Given the description of an element on the screen output the (x, y) to click on. 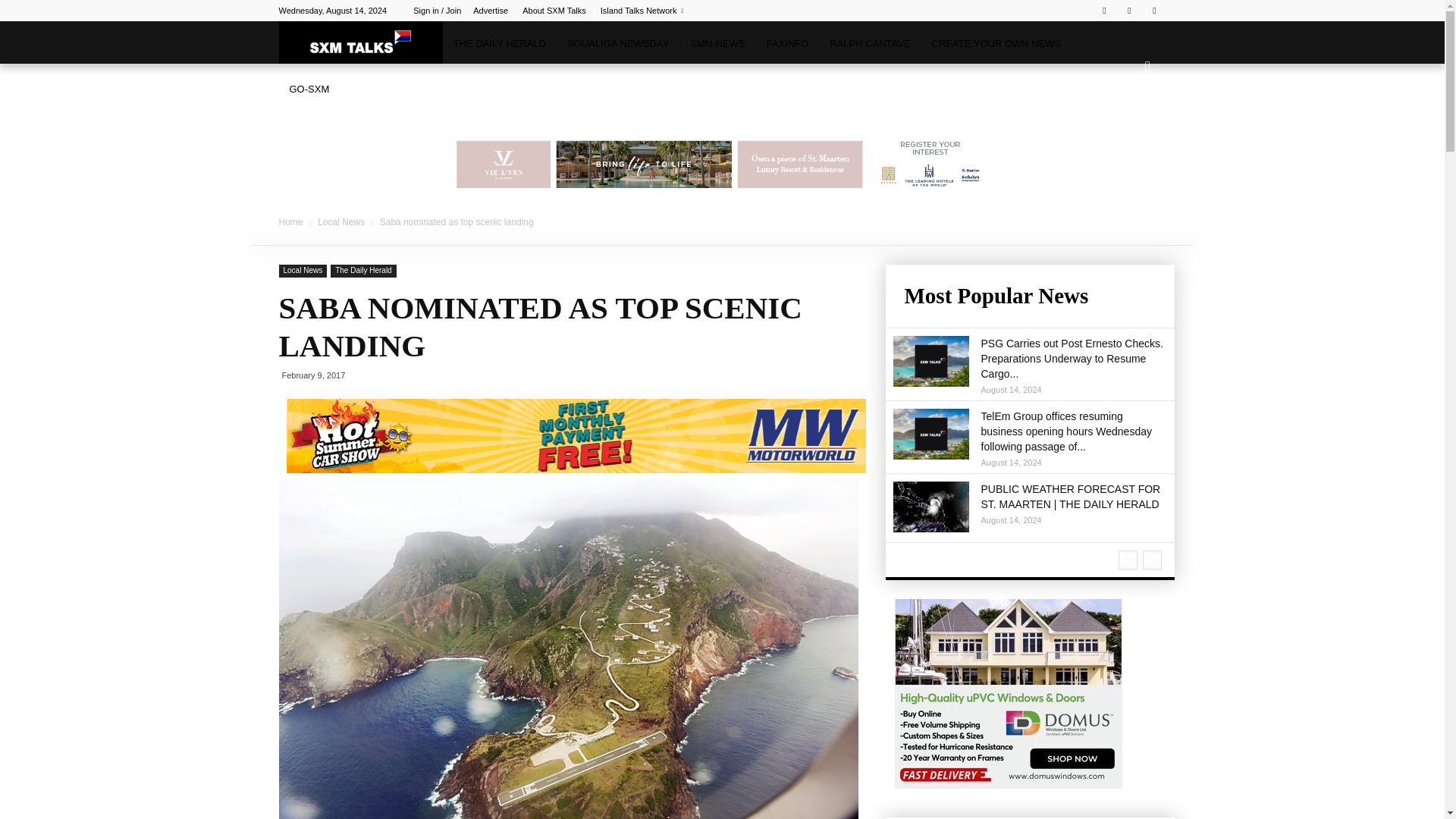
Facebook (1104, 10)
Advertise (490, 10)
SOUALIGA NEWSDAY (617, 43)
About SXM Talks (554, 10)
Youtube (1154, 10)
SMN-NEWS (717, 43)
THE DAILY HERALD (499, 43)
SXM Talks (360, 42)
Twitter (1129, 10)
RALPH CANTAVE (869, 43)
